Given the description of an element on the screen output the (x, y) to click on. 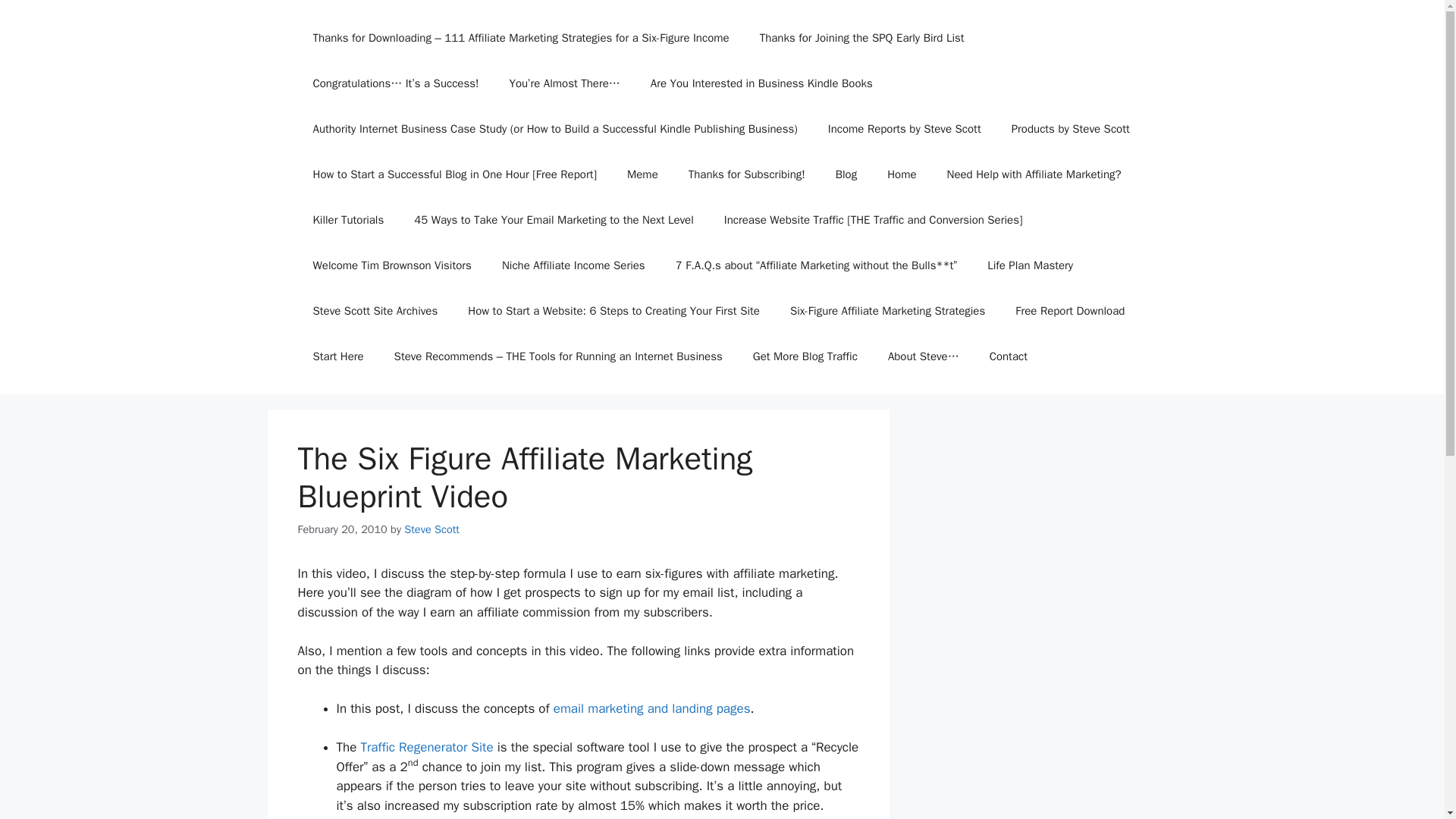
Blog (846, 174)
Steve Scott Site Archives (374, 310)
Steve Scott (432, 529)
Are You Interested in Business Kindle Books (761, 83)
Free Report Download (1070, 310)
Life Plan Mastery (1029, 265)
Six-Figure Affiliate Marketing Strategies (887, 310)
Niche Affiliate Income Series (573, 265)
Welcome Tim Brownson Visitors (391, 265)
Get More Blog Traffic (805, 356)
Thanks for Subscribing! (746, 174)
email marketing and landing pages (652, 708)
45 Ways to Take Your Email Marketing to the Next Level (553, 219)
Thanks for Joining the SPQ Early Bird List (861, 37)
How to Start a Website: 6 Steps to Creating Your First Site (613, 310)
